Given the description of an element on the screen output the (x, y) to click on. 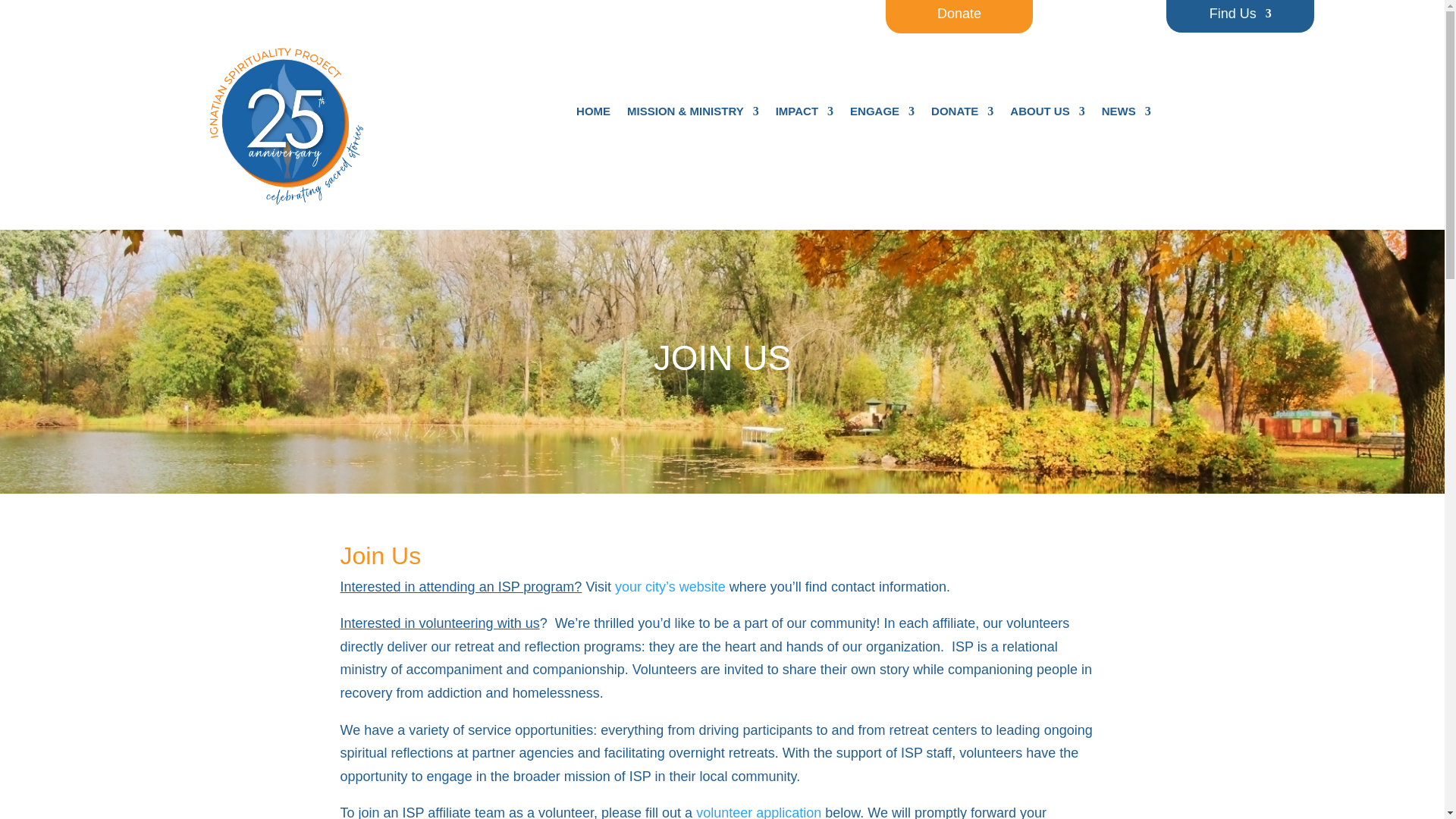
Find Us (1240, 16)
25th-Anniversary-logo-century-gothic (290, 123)
